Given the description of an element on the screen output the (x, y) to click on. 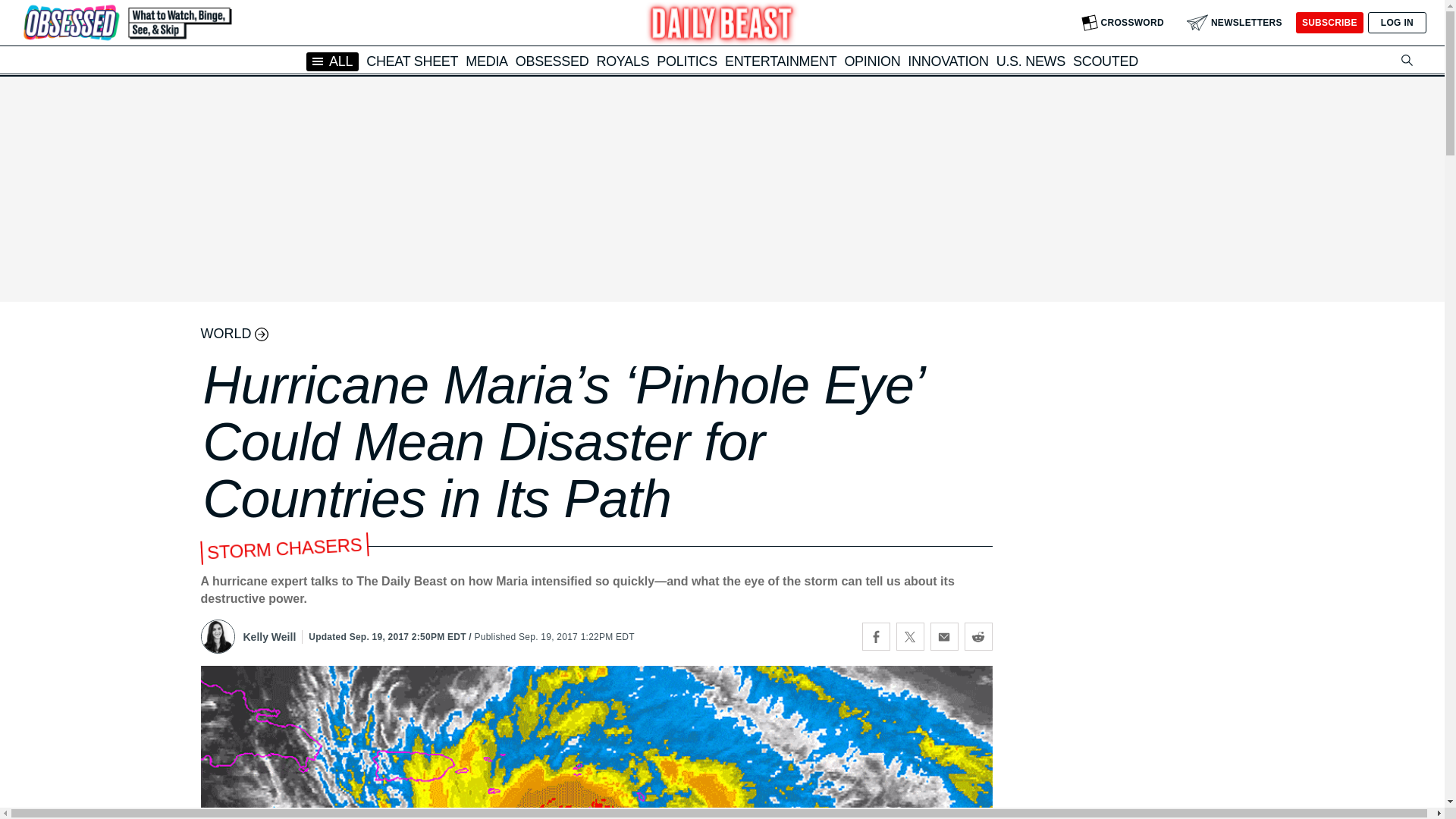
U.S. NEWS (1030, 60)
ENTERTAINMENT (780, 60)
LOG IN (1397, 22)
ROYALS (622, 60)
ALL (331, 60)
SUBSCRIBE (1328, 22)
NEWSLETTERS (1234, 22)
CROSSWORD (1122, 22)
